Given the description of an element on the screen output the (x, y) to click on. 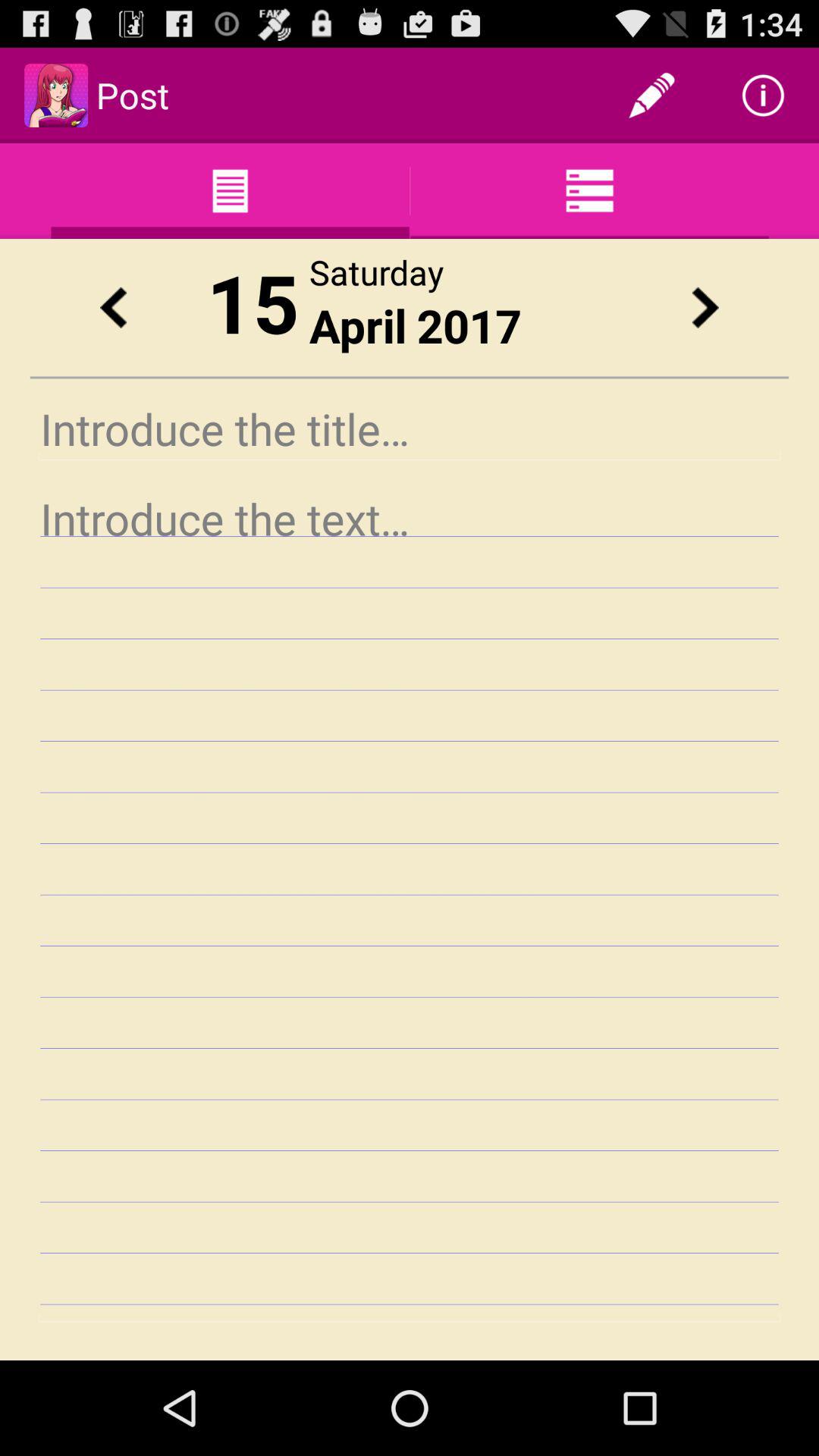
enter title (409, 428)
